Given the description of an element on the screen output the (x, y) to click on. 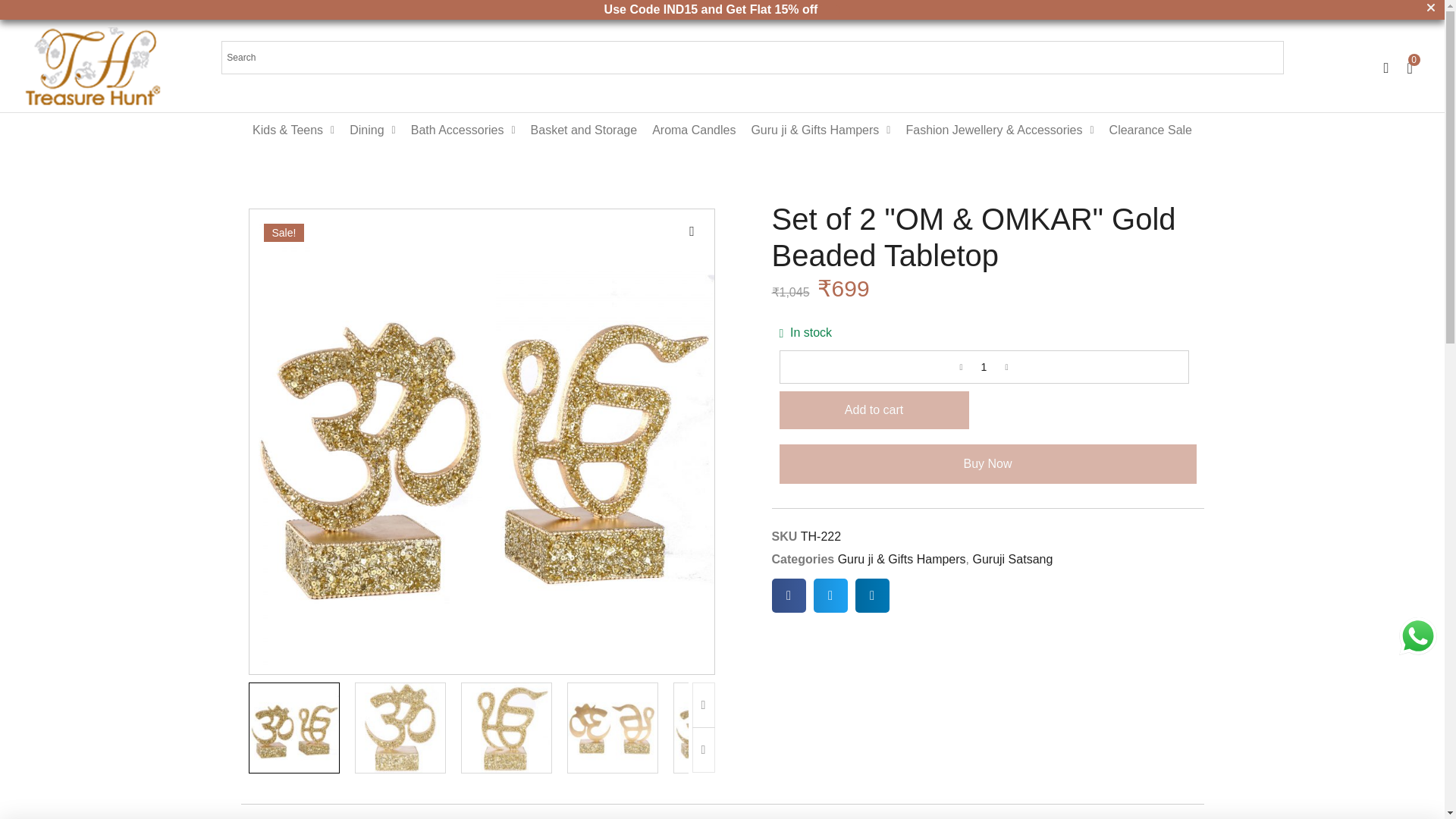
TOP (1414, 783)
WhatsApp us (1418, 636)
